Given the description of an element on the screen output the (x, y) to click on. 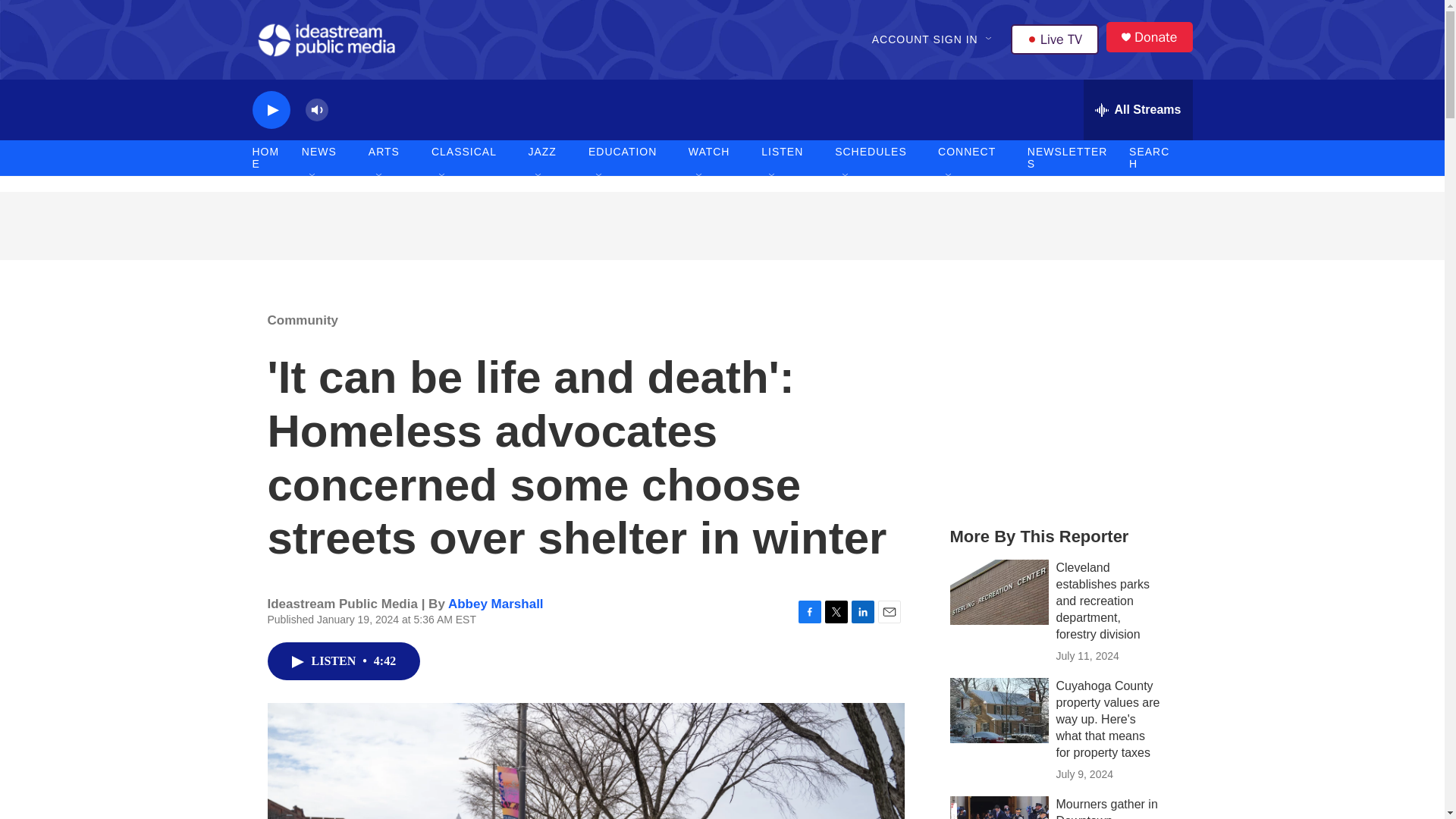
3rd party ad content (1062, 400)
3rd party ad content (721, 225)
